Given the description of an element on the screen output the (x, y) to click on. 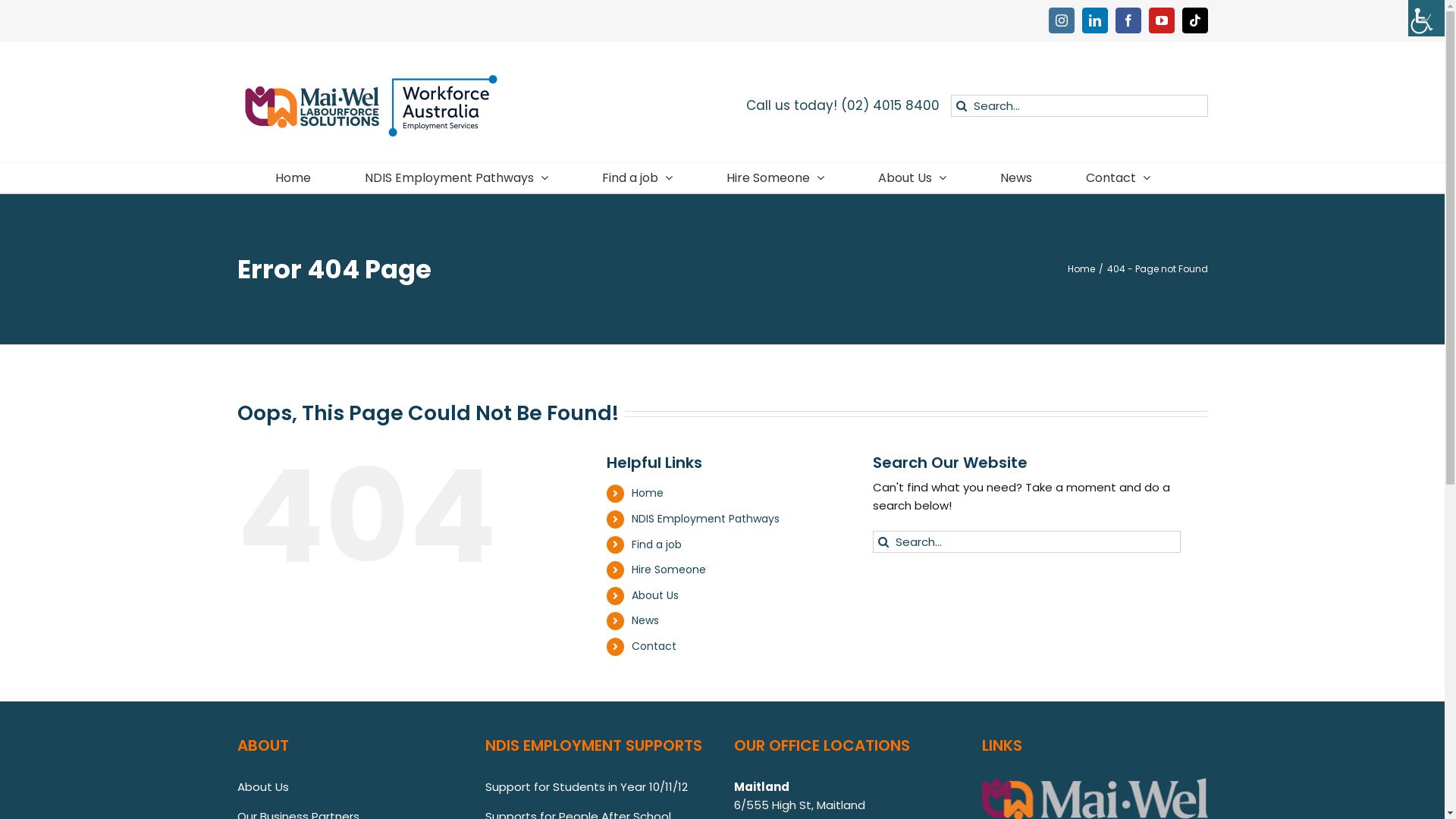
Home Element type: text (292, 177)
Facebook Element type: text (1127, 20)
YouTube Element type: text (1160, 20)
Instagram Element type: text (1060, 20)
Support for Students in Year 10/11/12 Element type: text (586, 786)
NDIS Employment Pathways Element type: text (455, 177)
Contact Element type: text (653, 645)
About Us Element type: text (262, 786)
LinkedIn Element type: text (1094, 20)
About Us Element type: text (654, 594)
Hire Someone Element type: text (774, 177)
Accessibility Helper sidebar Element type: hover (1426, 18)
Tiktok Element type: text (1194, 20)
Find a job Element type: text (656, 544)
About Us Element type: text (911, 177)
NDIS Employment Pathways Element type: text (705, 518)
Call us today! (02) 4015 8400 Element type: text (842, 106)
Home Element type: text (1081, 268)
News Element type: text (1015, 177)
Contact Element type: text (1117, 177)
Home Element type: text (647, 492)
Hire Someone Element type: text (668, 569)
Find a job Element type: text (636, 177)
News Element type: text (644, 619)
